Given the description of an element on the screen output the (x, y) to click on. 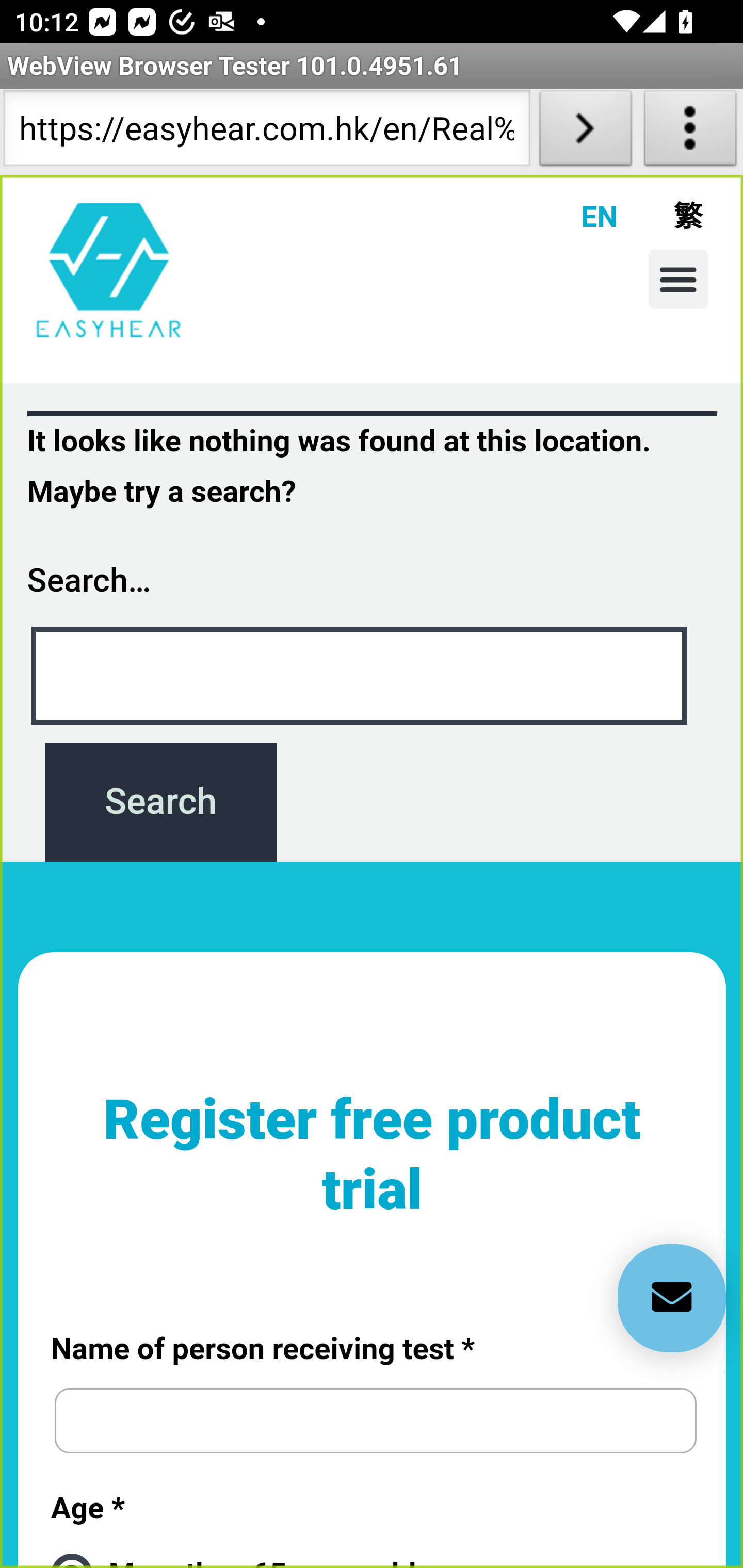
https://easyhear.com.hk/en/Real%20Madrid (266, 132)
Load URL (585, 132)
About WebView (690, 132)
EN (574, 215)
繁 (660, 215)
en (109, 269)
Menu Toggle (677, 278)
Search (160, 801)
Register free product trial (372, 1172)
